Given the description of an element on the screen output the (x, y) to click on. 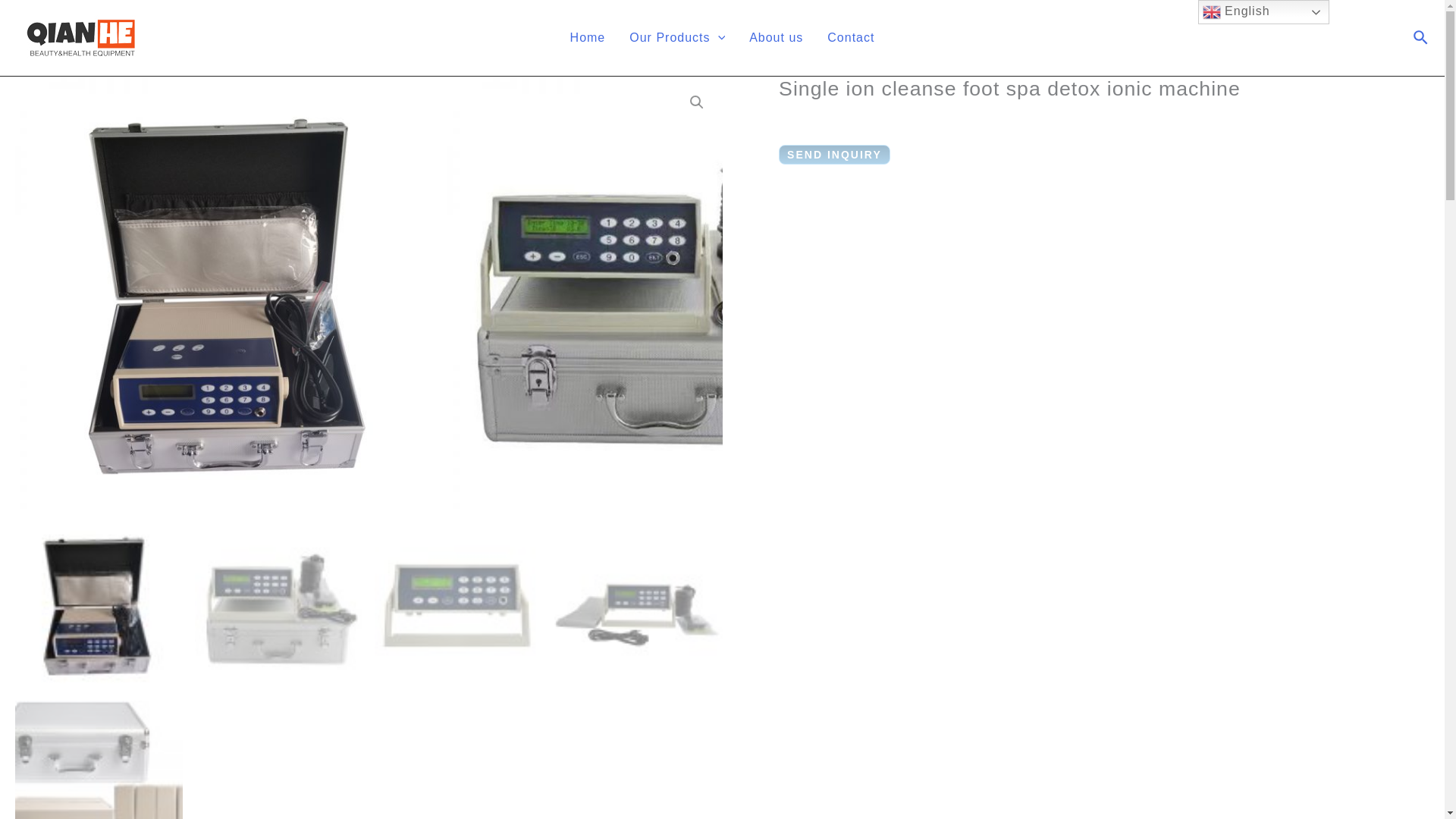
About us (775, 38)
Our Products (676, 38)
Contact (850, 38)
